Given the description of an element on the screen output the (x, y) to click on. 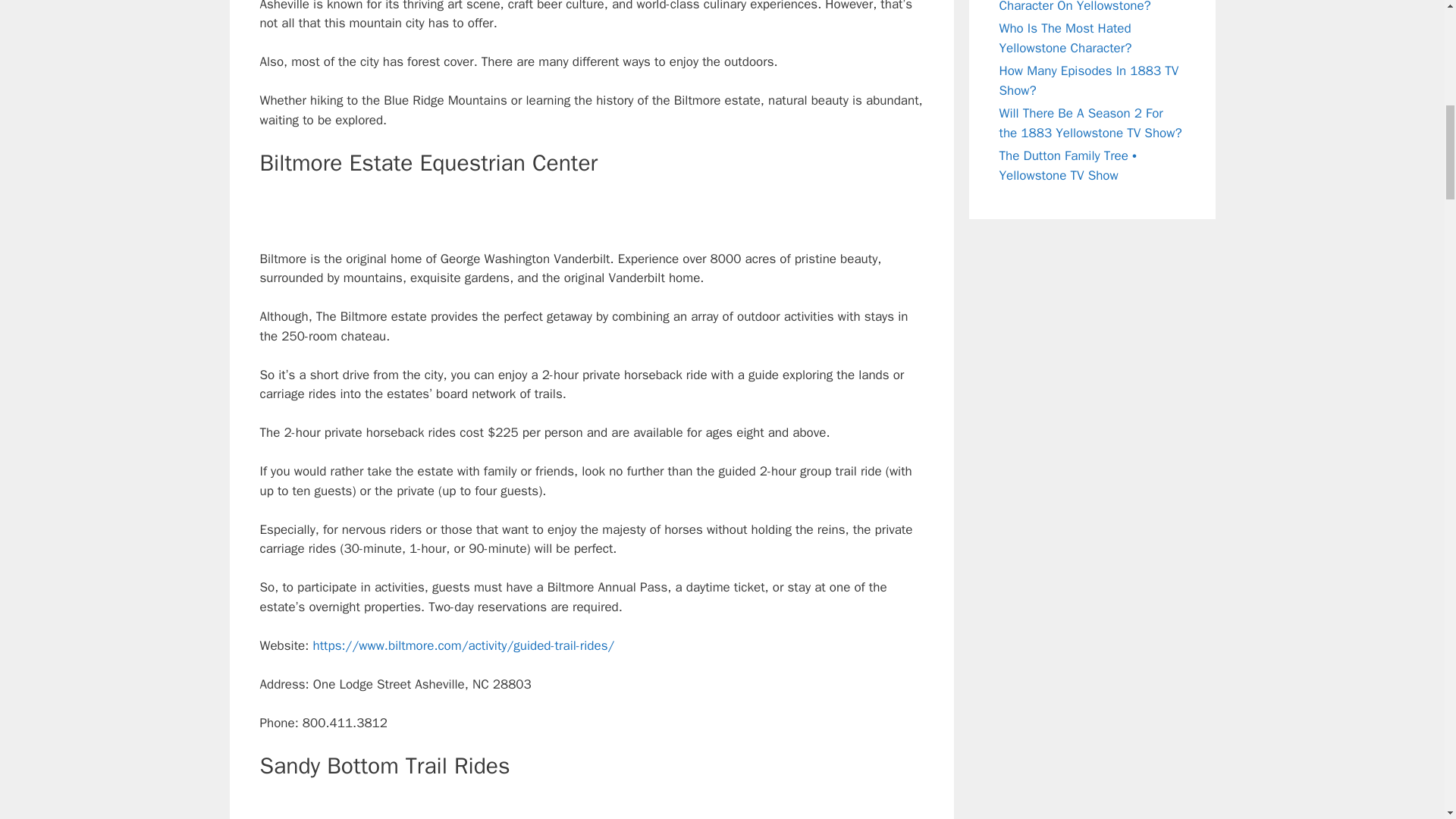
Who Is The Most Hated Yellowstone Character? (1065, 38)
How Many Episodes In 1883 TV Show? (1088, 80)
Who Is The Most Popular Character On Yellowstone? (1074, 6)
Will There Be A Season 2 For the 1883 Yellowstone TV Show? (1090, 122)
